Given the description of an element on the screen output the (x, y) to click on. 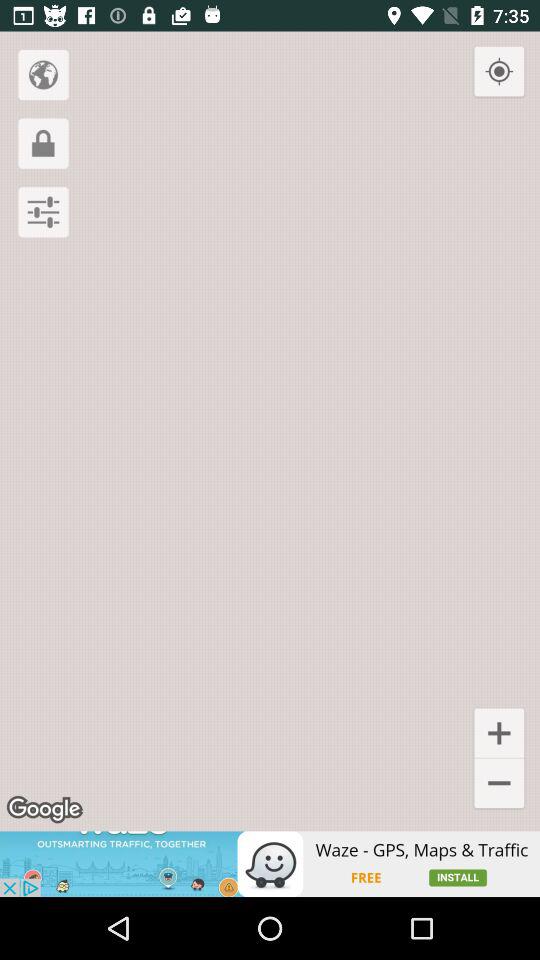
go to looke (43, 143)
